Given the description of an element on the screen output the (x, y) to click on. 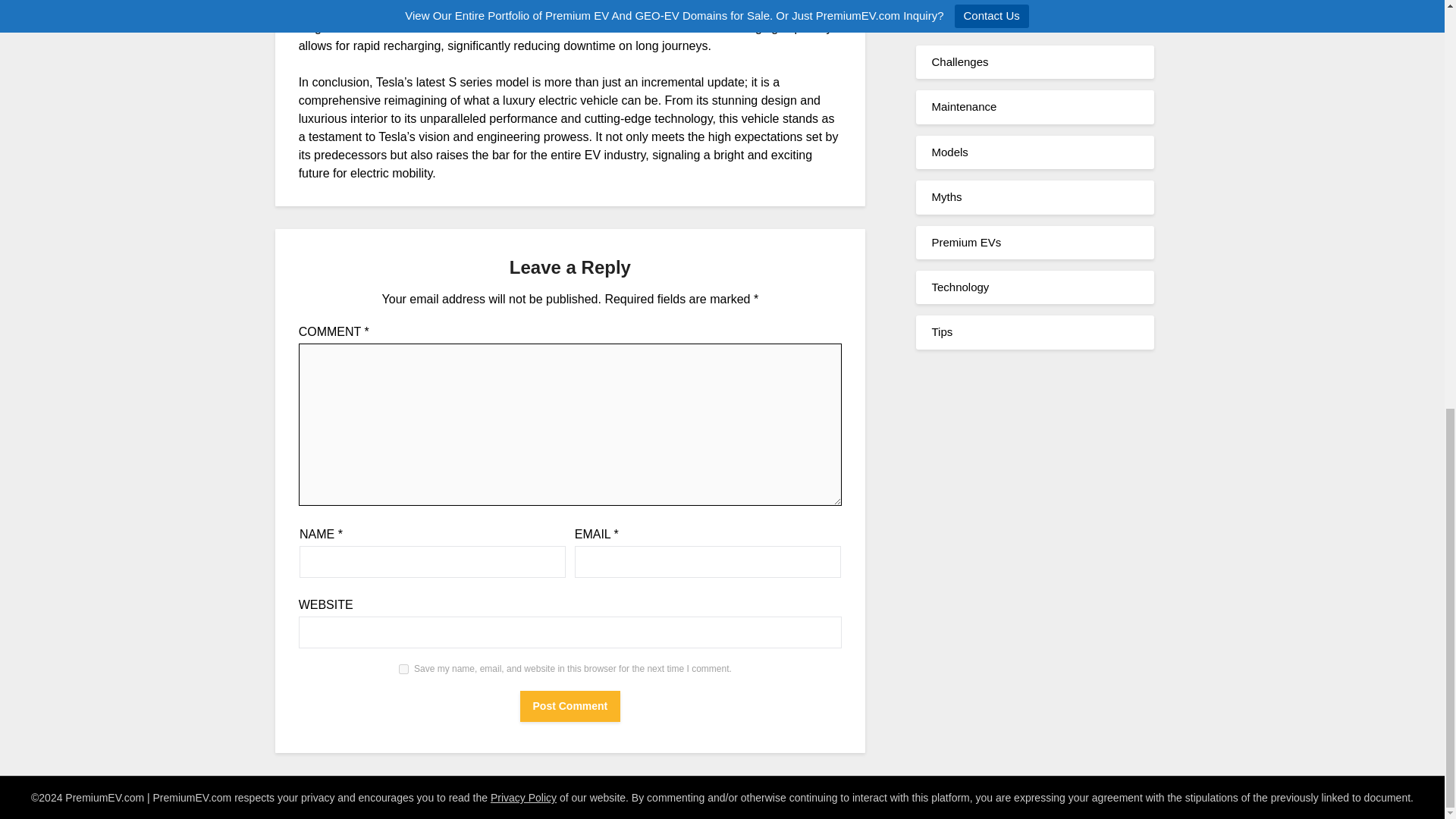
Challenges (959, 61)
Post Comment (570, 706)
Tips (941, 331)
Premium EVs (966, 241)
Models (949, 151)
Privacy Policy (523, 797)
Technology (959, 286)
yes (403, 669)
Myths (945, 196)
Post Comment (570, 706)
Maintenance (963, 106)
